Given the description of an element on the screen output the (x, y) to click on. 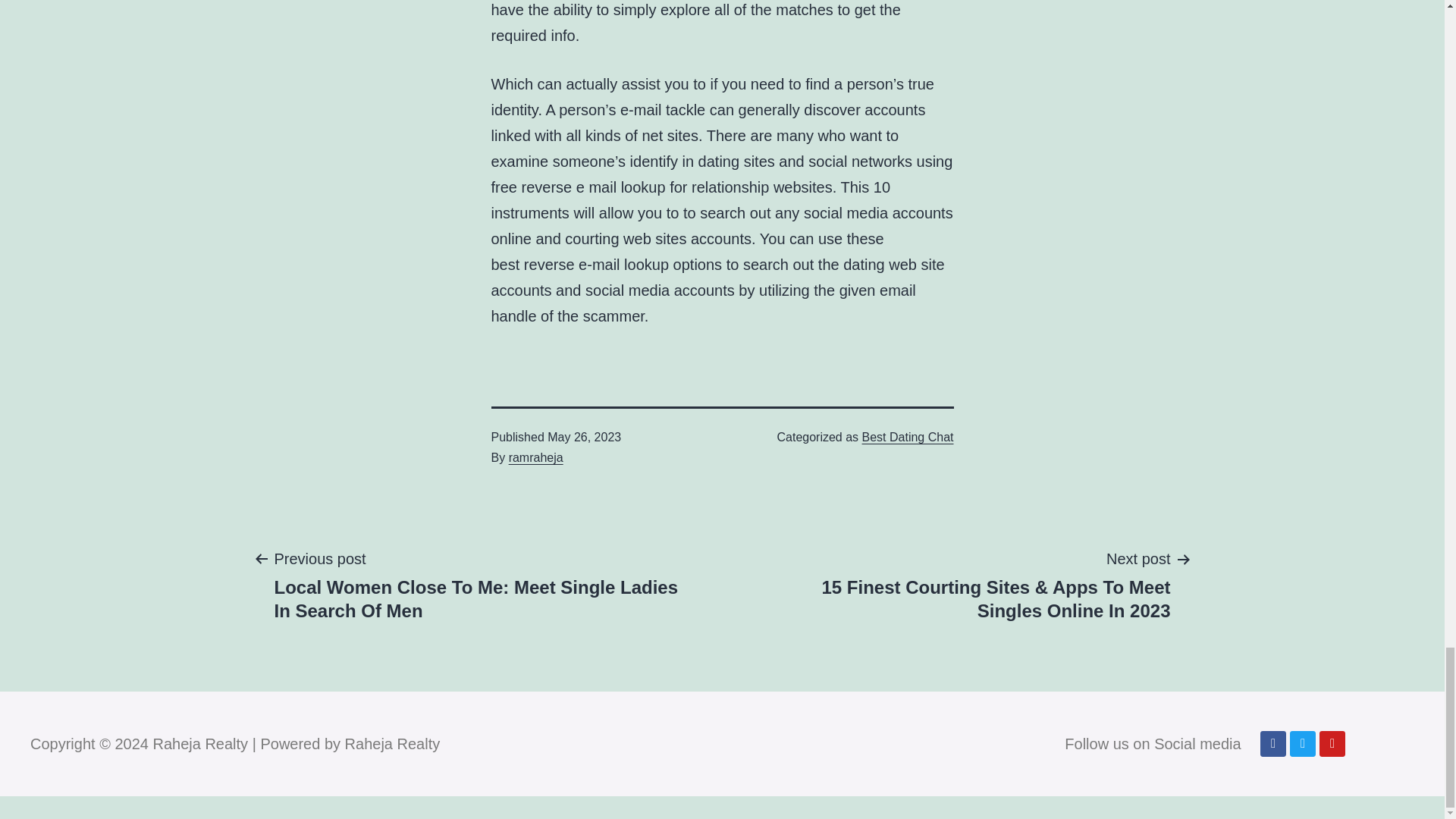
Best Dating Chat (907, 436)
ramraheja (535, 457)
